Given the description of an element on the screen output the (x, y) to click on. 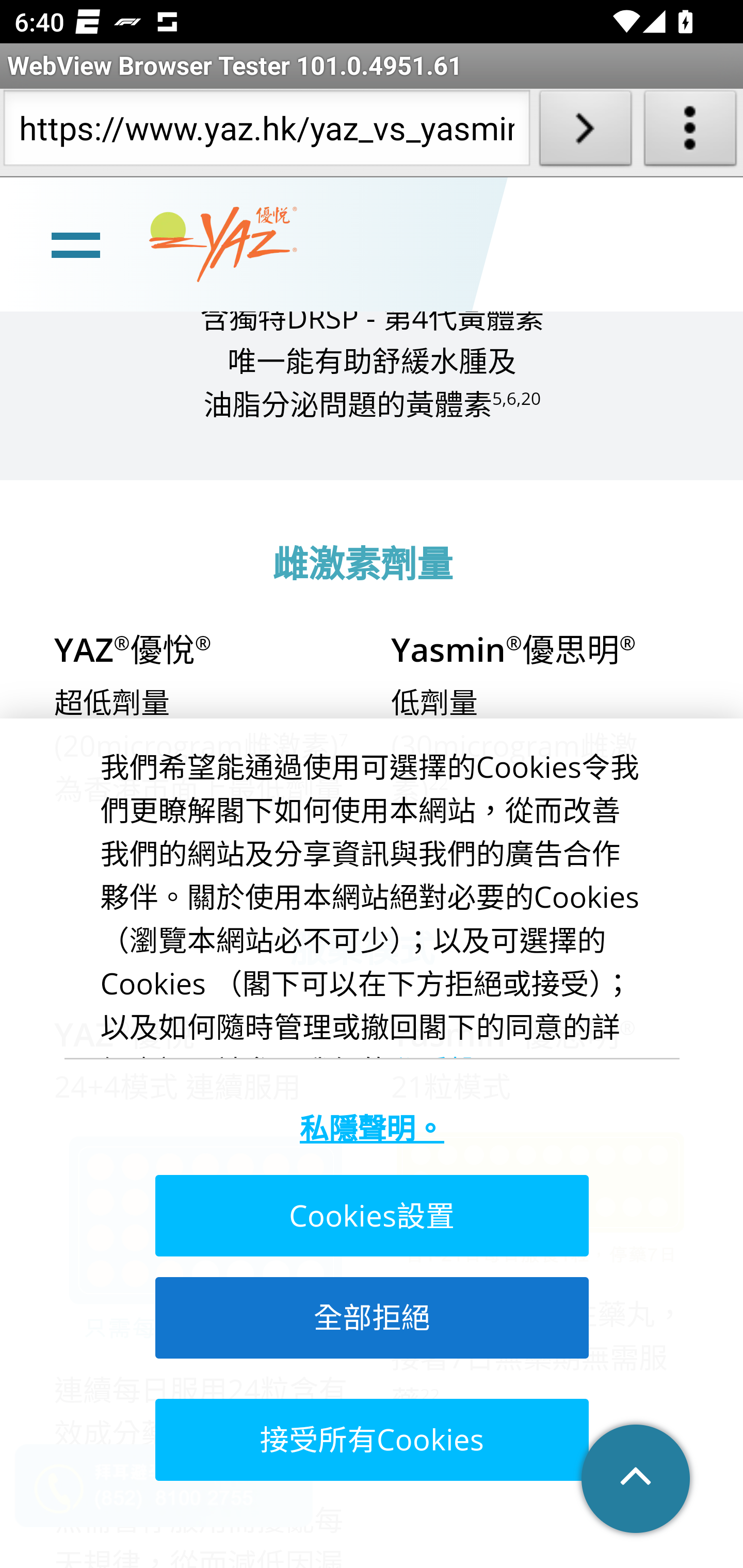
Load URL (585, 132)
About WebView (690, 132)
www.yaz (222, 244)
line Toggle burger menu (75, 245)
Cookies設置 (370, 1217)
全部拒絕 (370, 1318)
接受所有Cookies (370, 1439)
 (636, 1480)
